Given the description of an element on the screen output the (x, y) to click on. 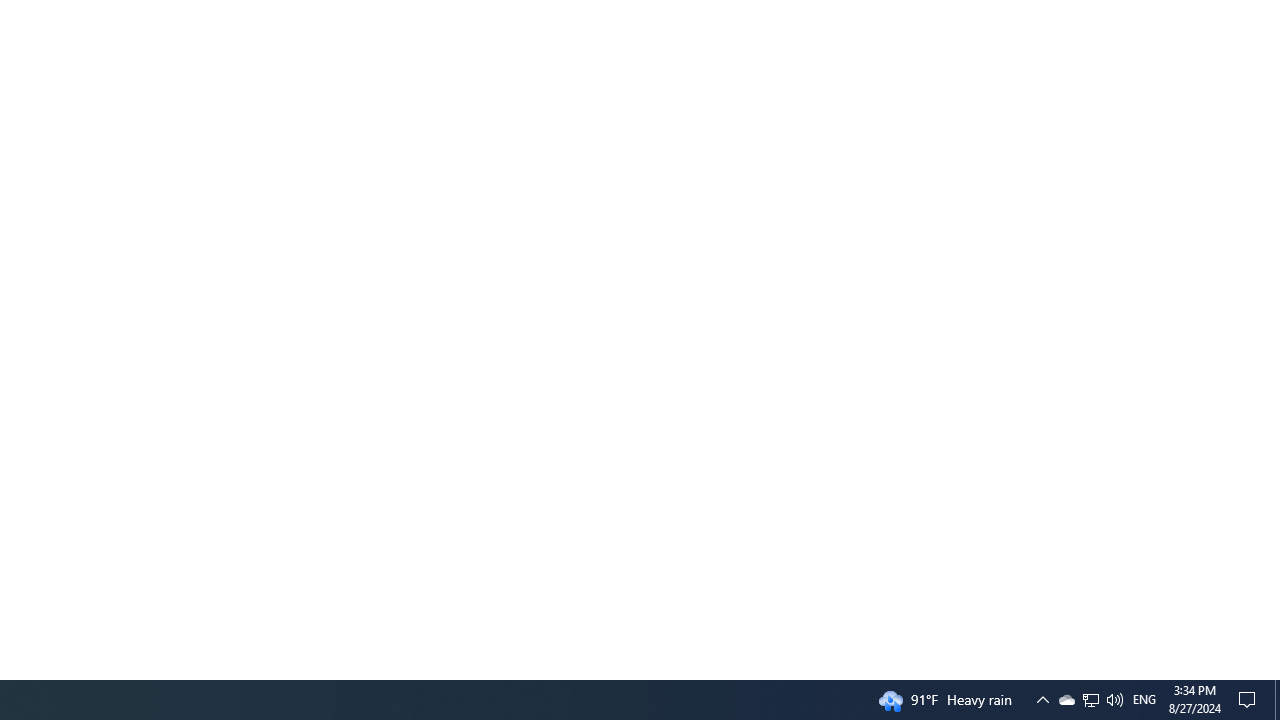
Tray Input Indicator - English (United States) (1091, 699)
Q2790: 100% (1144, 699)
User Promoted Notification Area (1114, 699)
Notification Chevron (1090, 699)
Show desktop (1042, 699)
Action Center, No new notifications (1066, 699)
